Given the description of an element on the screen output the (x, y) to click on. 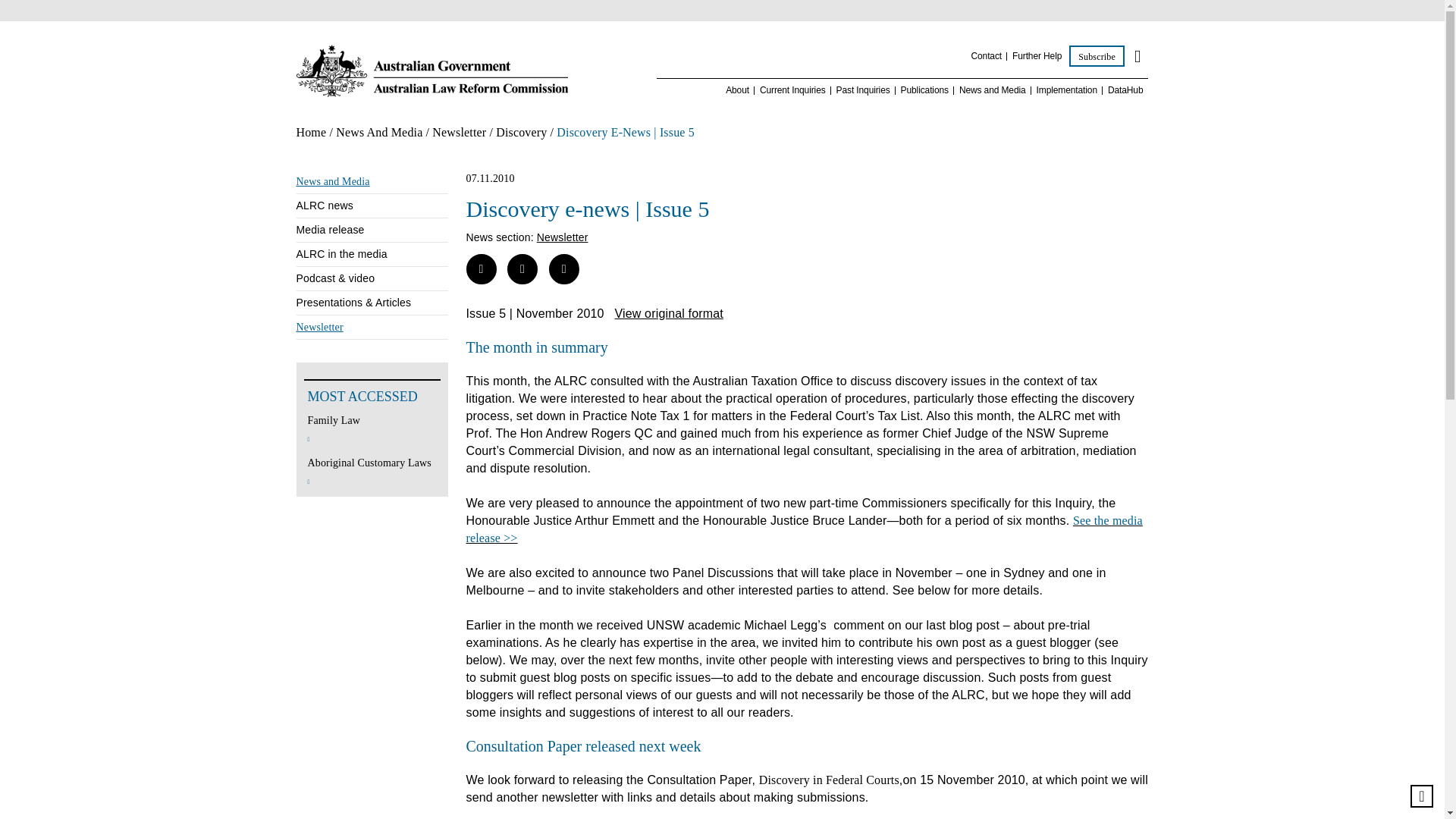
Past Inquiries (862, 90)
About (737, 90)
Past Inquiries (862, 90)
Current Inquiries (792, 90)
Australian Law Reform Commission (431, 71)
About (737, 90)
Subscribe (1096, 55)
Contact (986, 56)
Publications (925, 90)
Current Inquiries (792, 90)
